Given the description of an element on the screen output the (x, y) to click on. 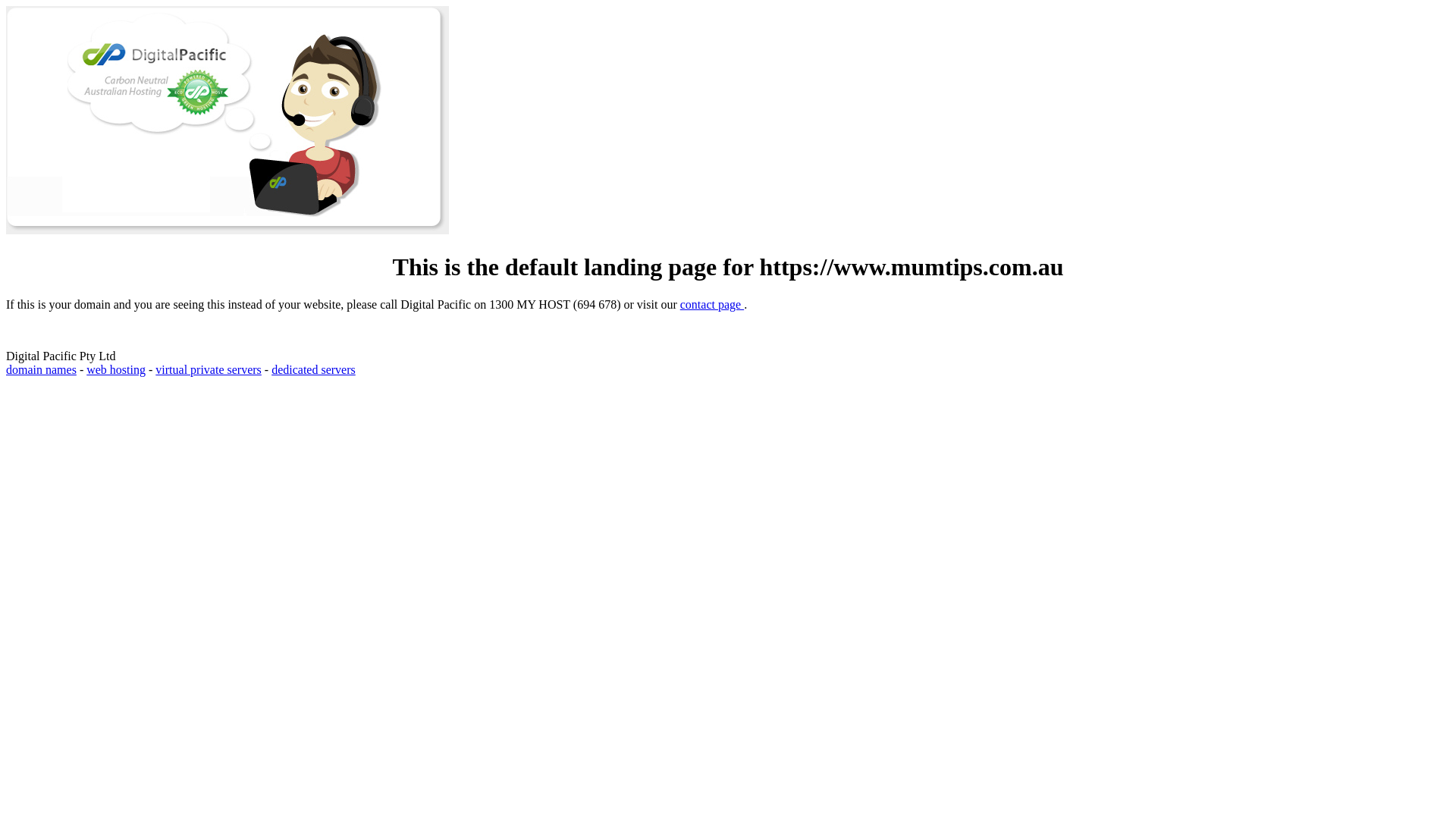
domain names Element type: text (41, 369)
contact page Element type: text (711, 304)
dedicated servers Element type: text (313, 369)
virtual private servers Element type: text (208, 369)
web hosting Element type: text (115, 369)
